Given the description of an element on the screen output the (x, y) to click on. 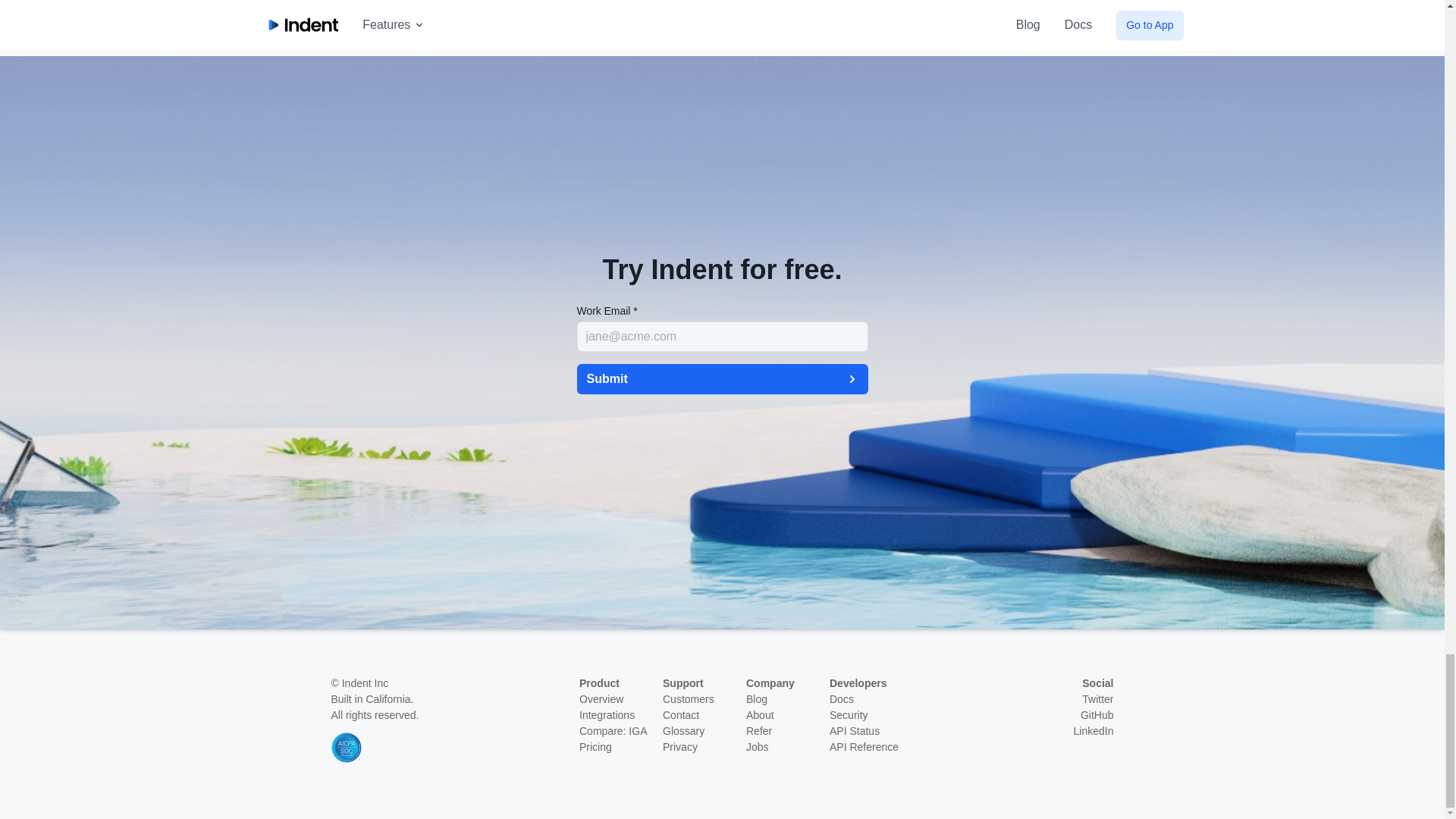
API Status (854, 730)
About (759, 715)
Security (848, 715)
Integrations (606, 715)
Customers (688, 698)
Blog (756, 698)
Glossary (683, 730)
Submit (721, 378)
Refer (758, 730)
Overview (601, 698)
